Given the description of an element on the screen output the (x, y) to click on. 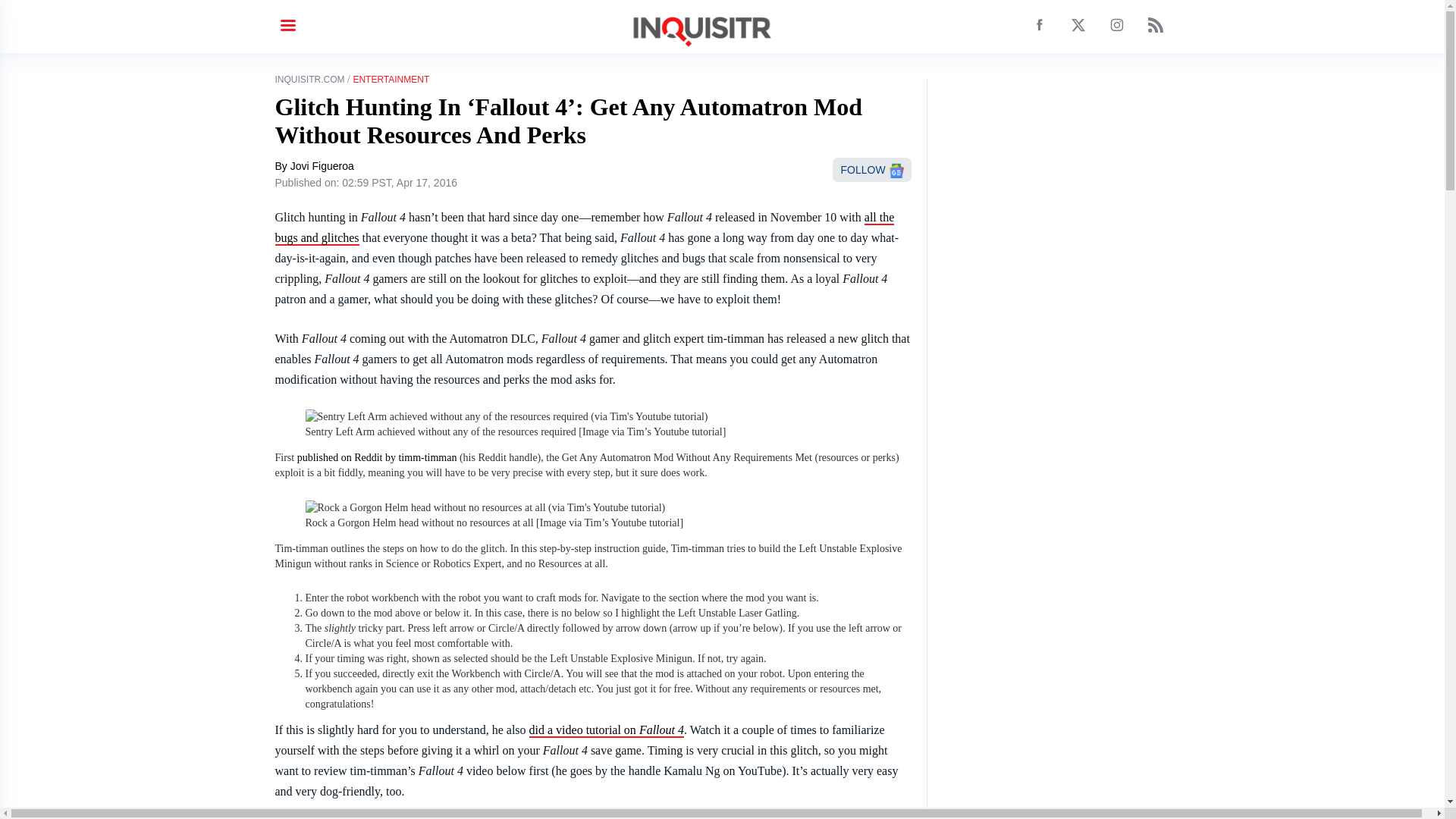
ENTERTAINMENT (390, 79)
INQUISITR.COM (309, 79)
